Given the description of an element on the screen output the (x, y) to click on. 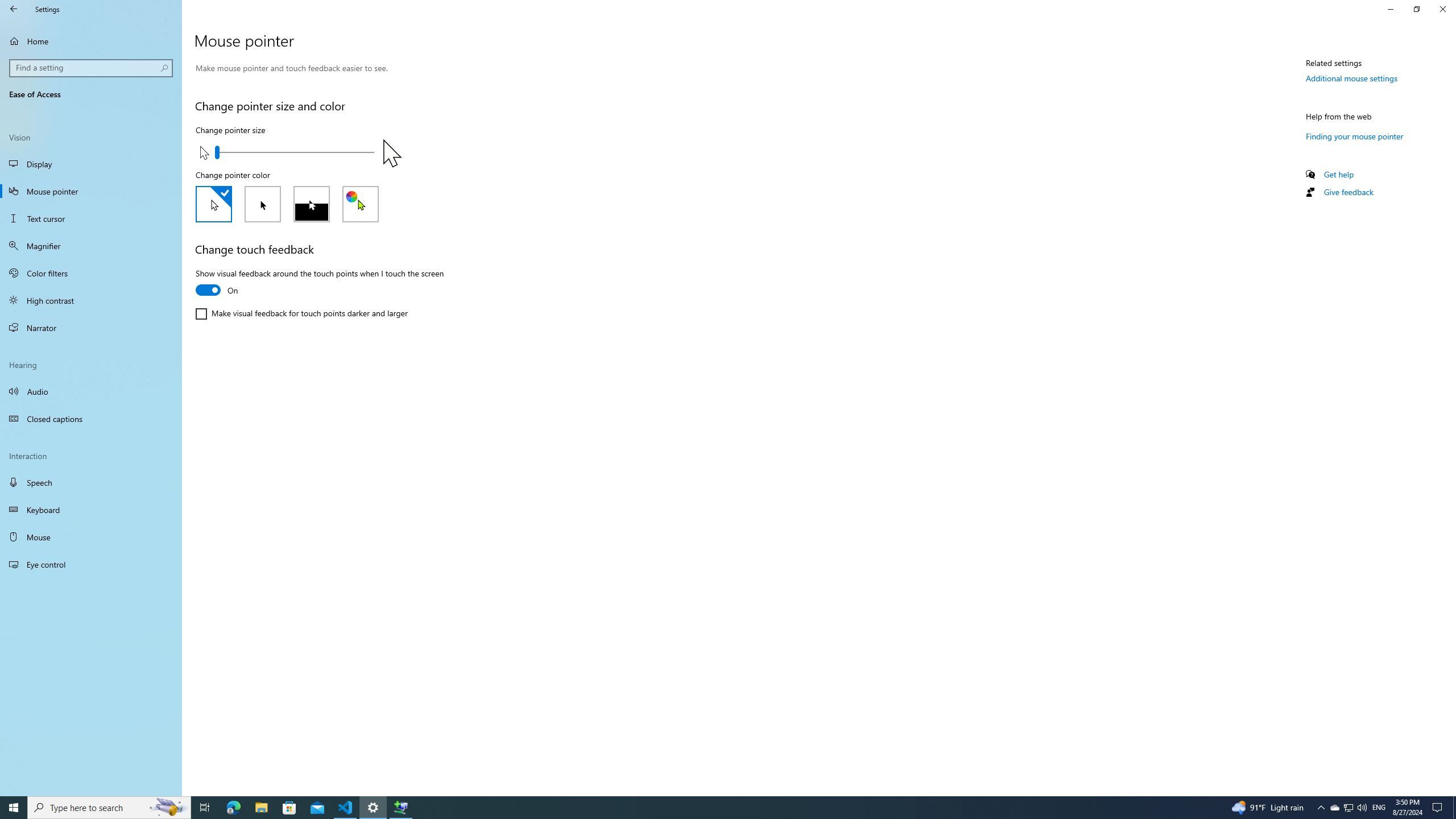
Minimize Settings (1390, 9)
Eye control (91, 564)
Home (91, 40)
Restore Settings (1416, 9)
Back (13, 9)
Closed captions (91, 418)
Custom (360, 204)
Color filters (91, 272)
Type here to search (108, 807)
Settings - 1 running window (373, 807)
Give feedback (1348, 191)
Inverted (311, 204)
Keyboard (91, 509)
